Given the description of an element on the screen output the (x, y) to click on. 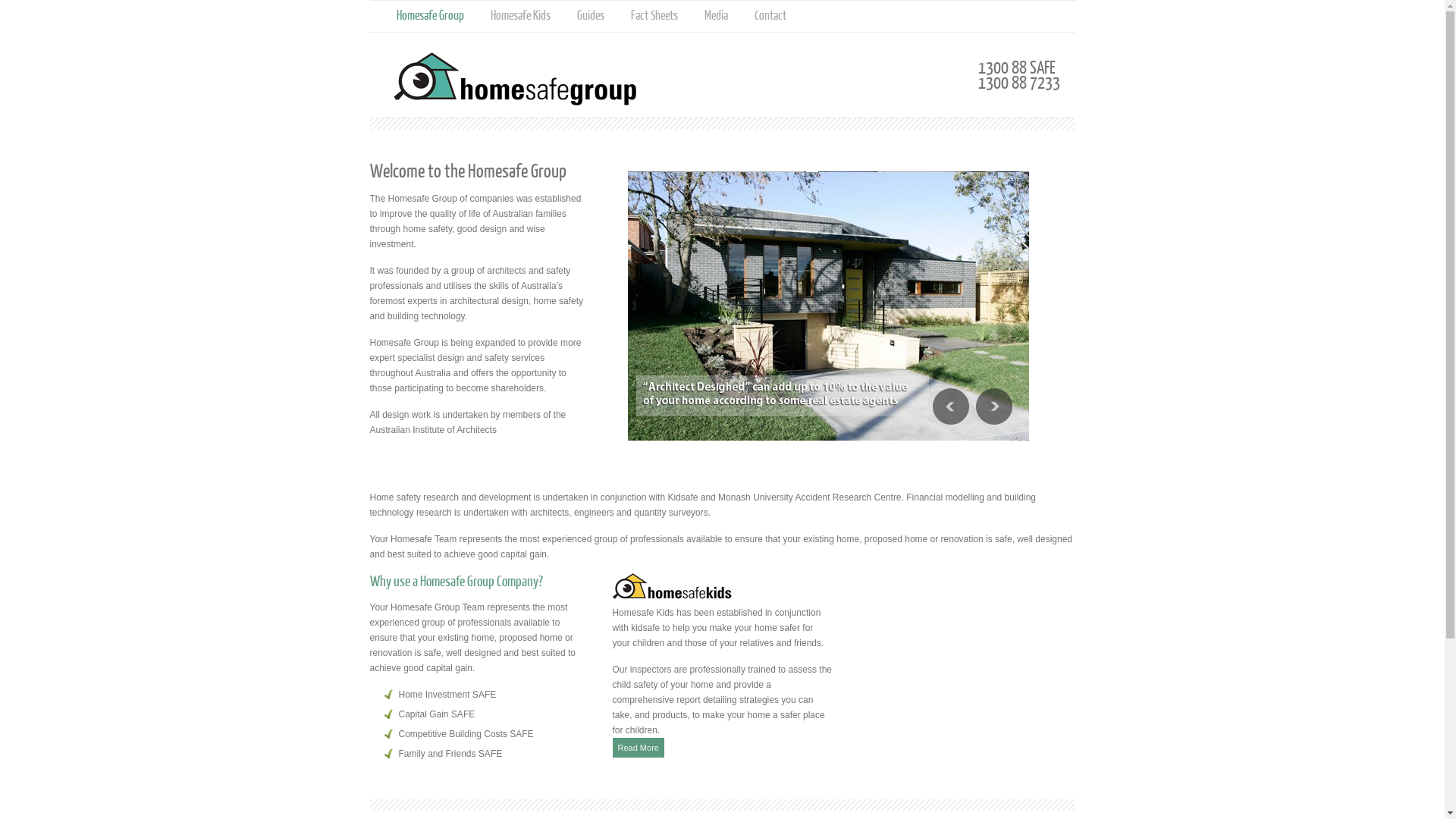
Homesafe Kids Element type: text (519, 14)
Contact Element type: text (769, 14)
Read More Element type: text (638, 747)
HomesafeKids-h-logo-sm Element type: hover (671, 586)
Media Element type: text (715, 14)
Fact Sheets Element type: text (653, 14)
Guides Element type: text (589, 14)
Homesafe Group Element type: text (429, 14)
